Given the description of an element on the screen output the (x, y) to click on. 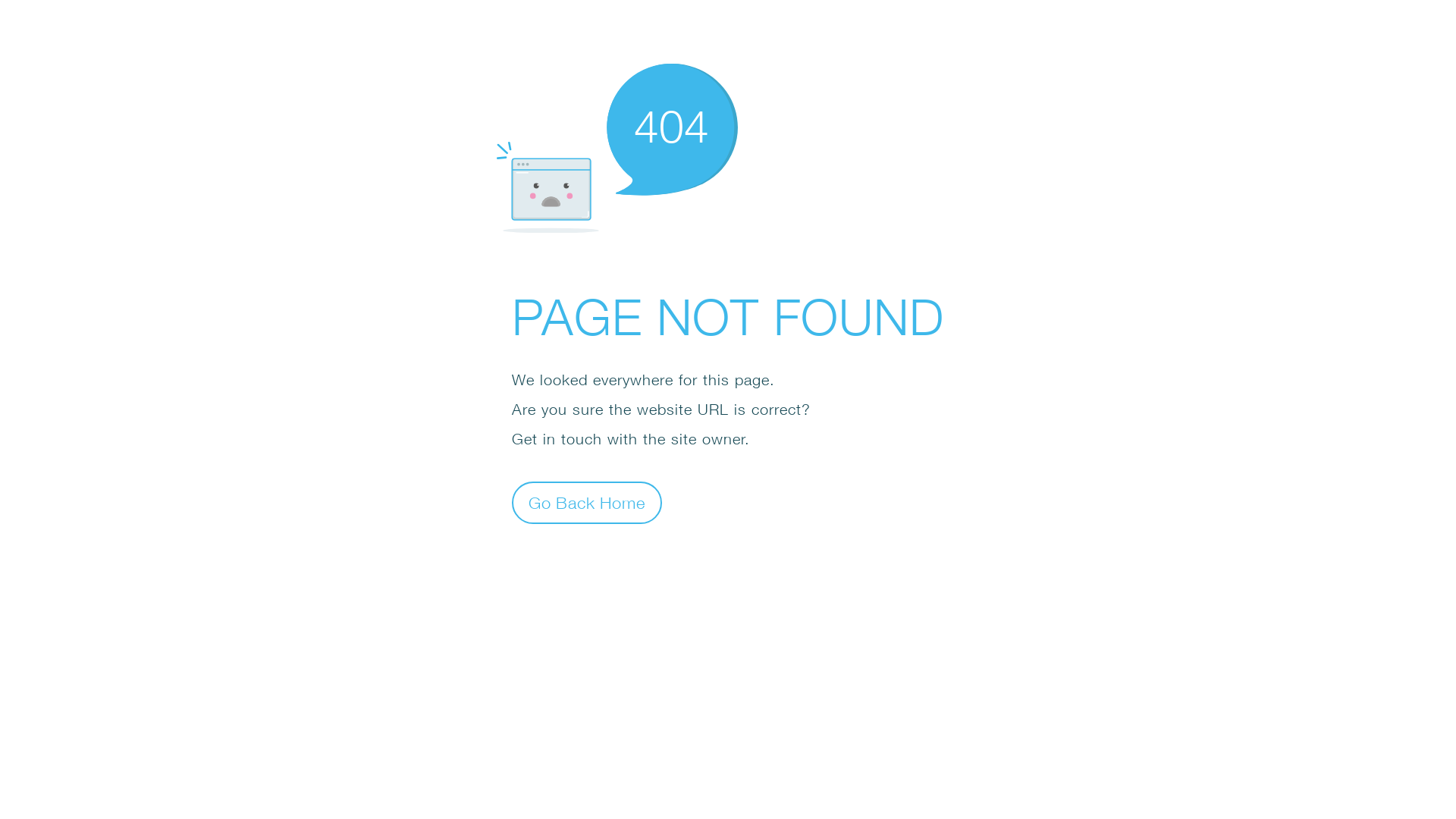
Go Back Home Element type: text (586, 502)
